Given the description of an element on the screen output the (x, y) to click on. 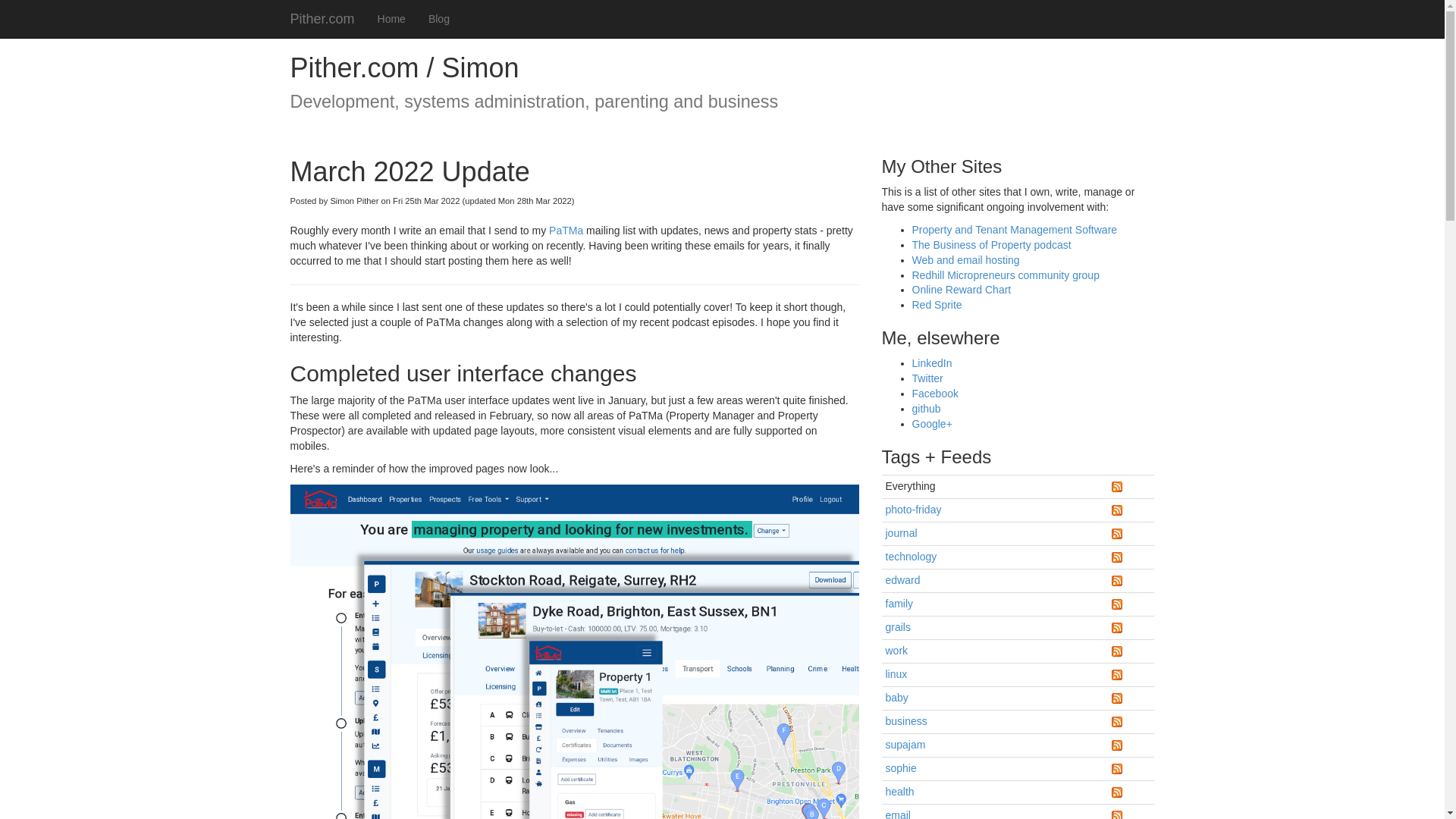
grails (898, 626)
journal (901, 532)
PaTMa (565, 230)
technology (911, 556)
Blog (438, 18)
baby (896, 697)
linux (896, 674)
Twitter (926, 378)
Home (391, 18)
Property and Tenant Management Software (1013, 229)
github (925, 408)
Web and email hosting (965, 259)
Online Reward Chart (960, 289)
edward (902, 580)
Red Sprite (935, 304)
